Given the description of an element on the screen output the (x, y) to click on. 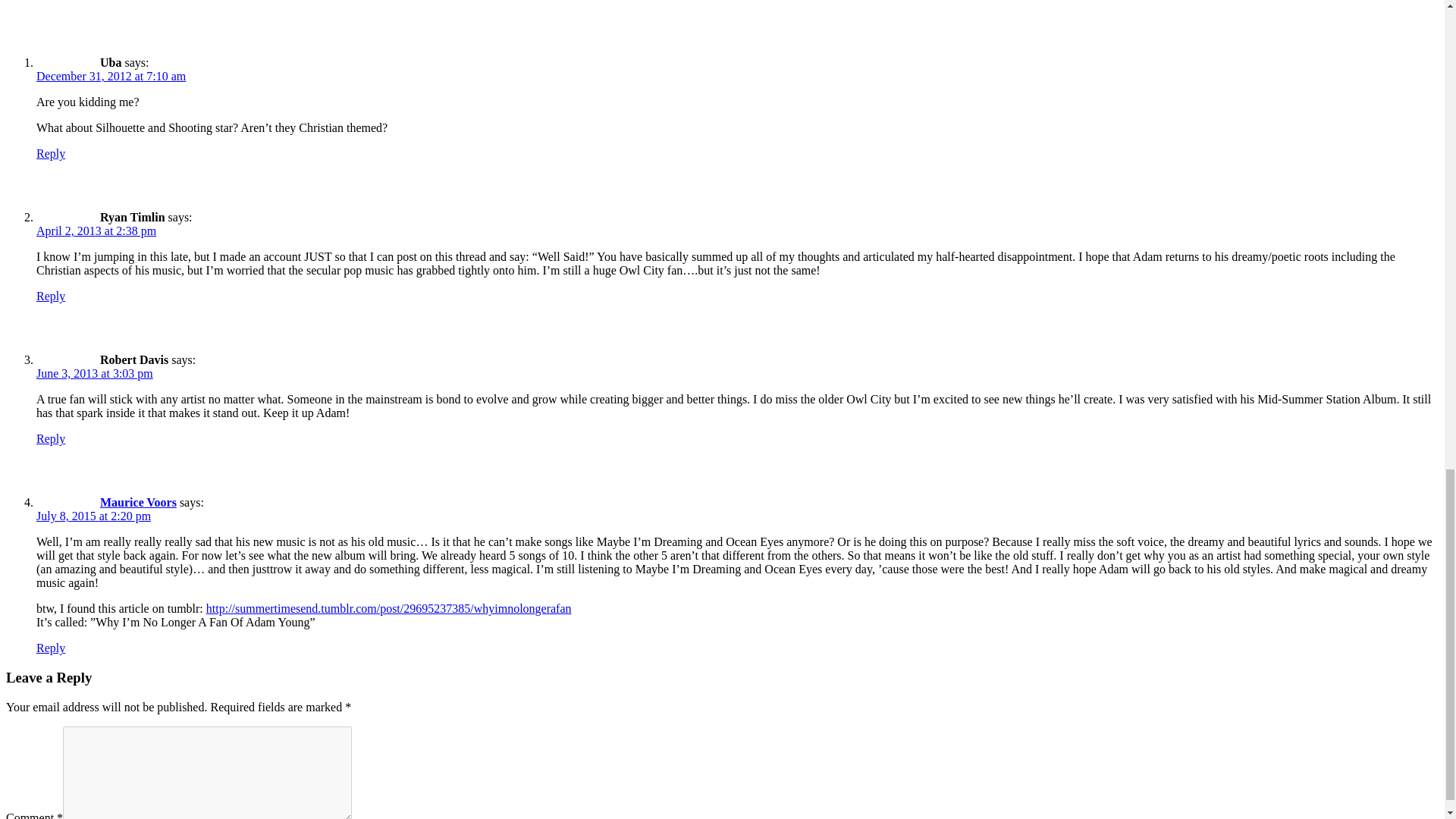
April 2, 2013 at 2:38 pm (95, 230)
Reply (50, 647)
June 3, 2013 at 3:03 pm (94, 373)
December 31, 2012 at 7:10 am (111, 75)
Maurice Voors (138, 502)
July 8, 2015 at 2:20 pm (93, 515)
Reply (50, 153)
Reply (50, 438)
Reply (50, 295)
